Given the description of an element on the screen output the (x, y) to click on. 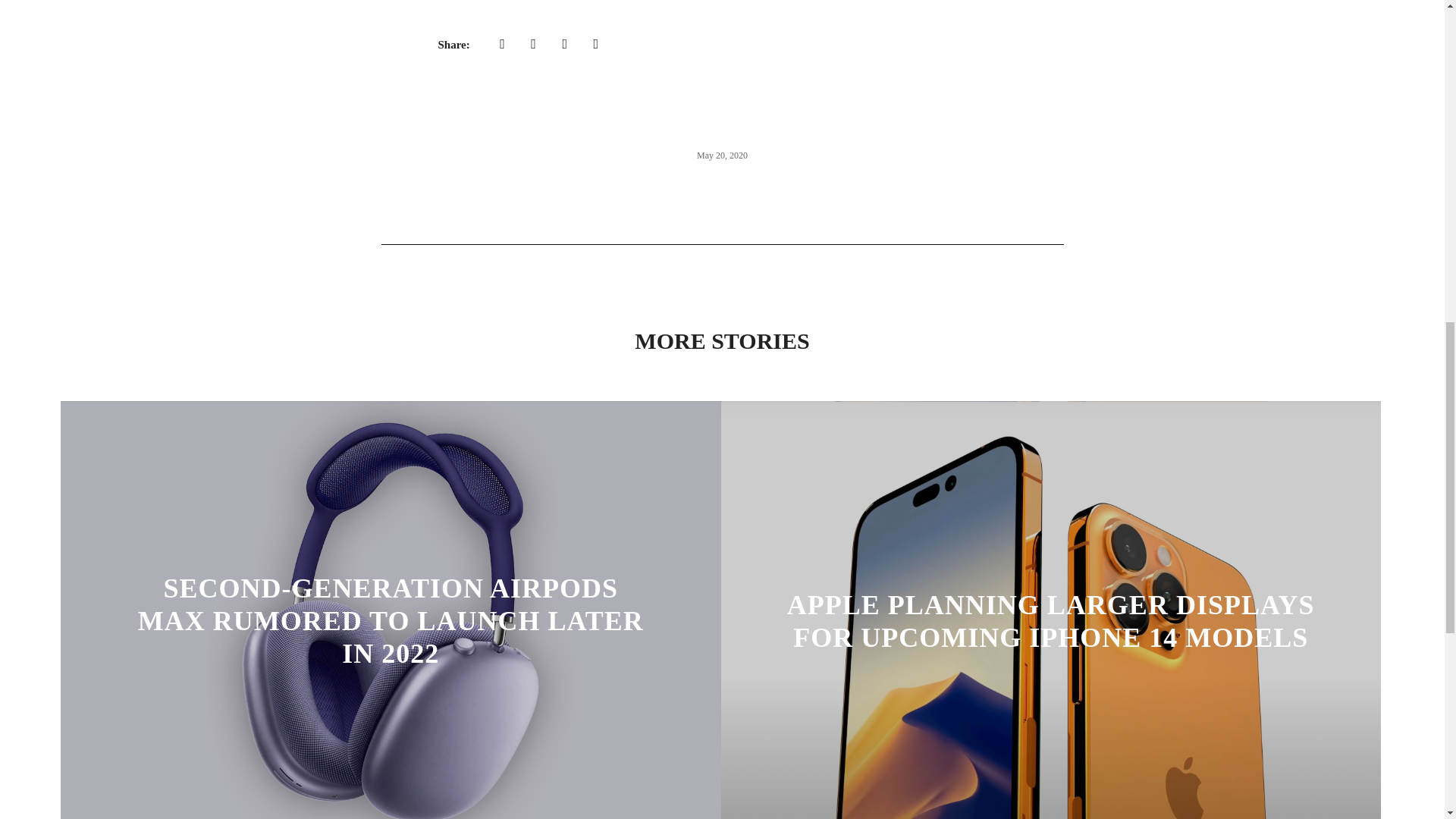
APPLE PLANNING LARGER DISPLAYS FOR UPCOMING IPHONE 14 MODELS (1050, 619)
